Given the description of an element on the screen output the (x, y) to click on. 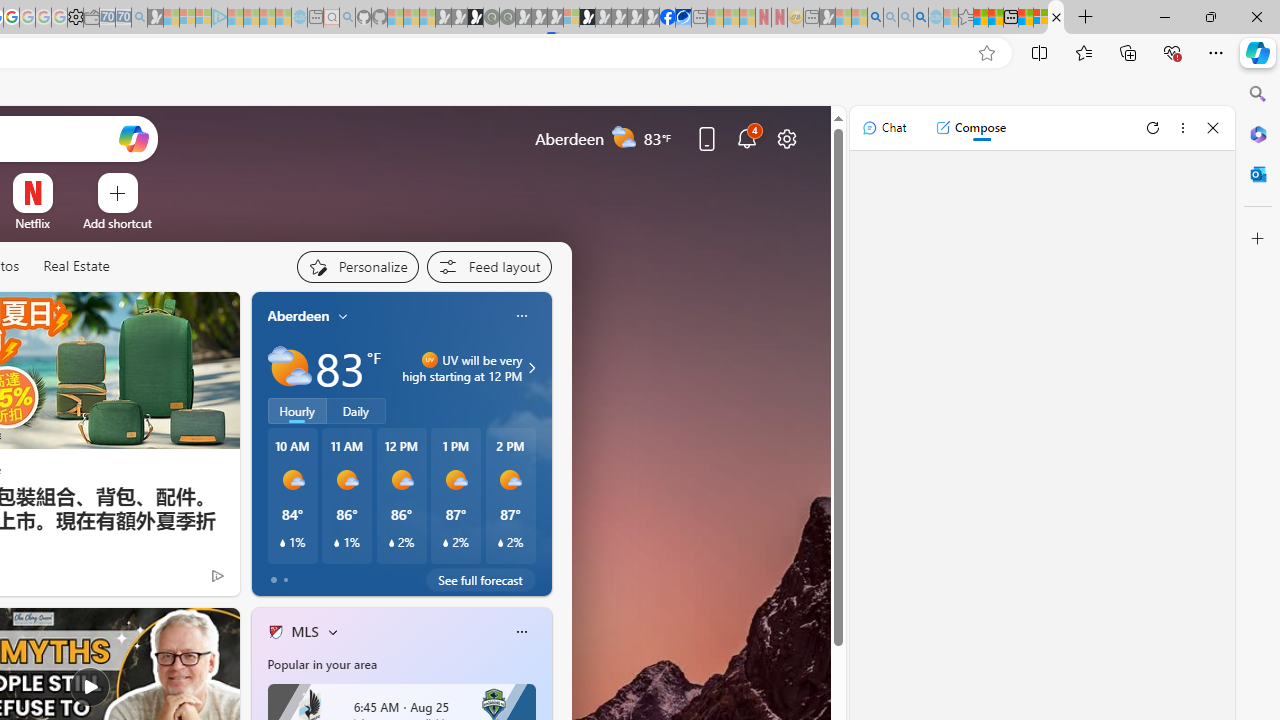
UV will be very high starting at 12 PM (529, 367)
Class: icon-img (521, 632)
Future Focus Report 2024 - Sleeping (507, 17)
MSN - Sleeping (827, 17)
Netflix (32, 223)
